Given the description of an element on the screen output the (x, y) to click on. 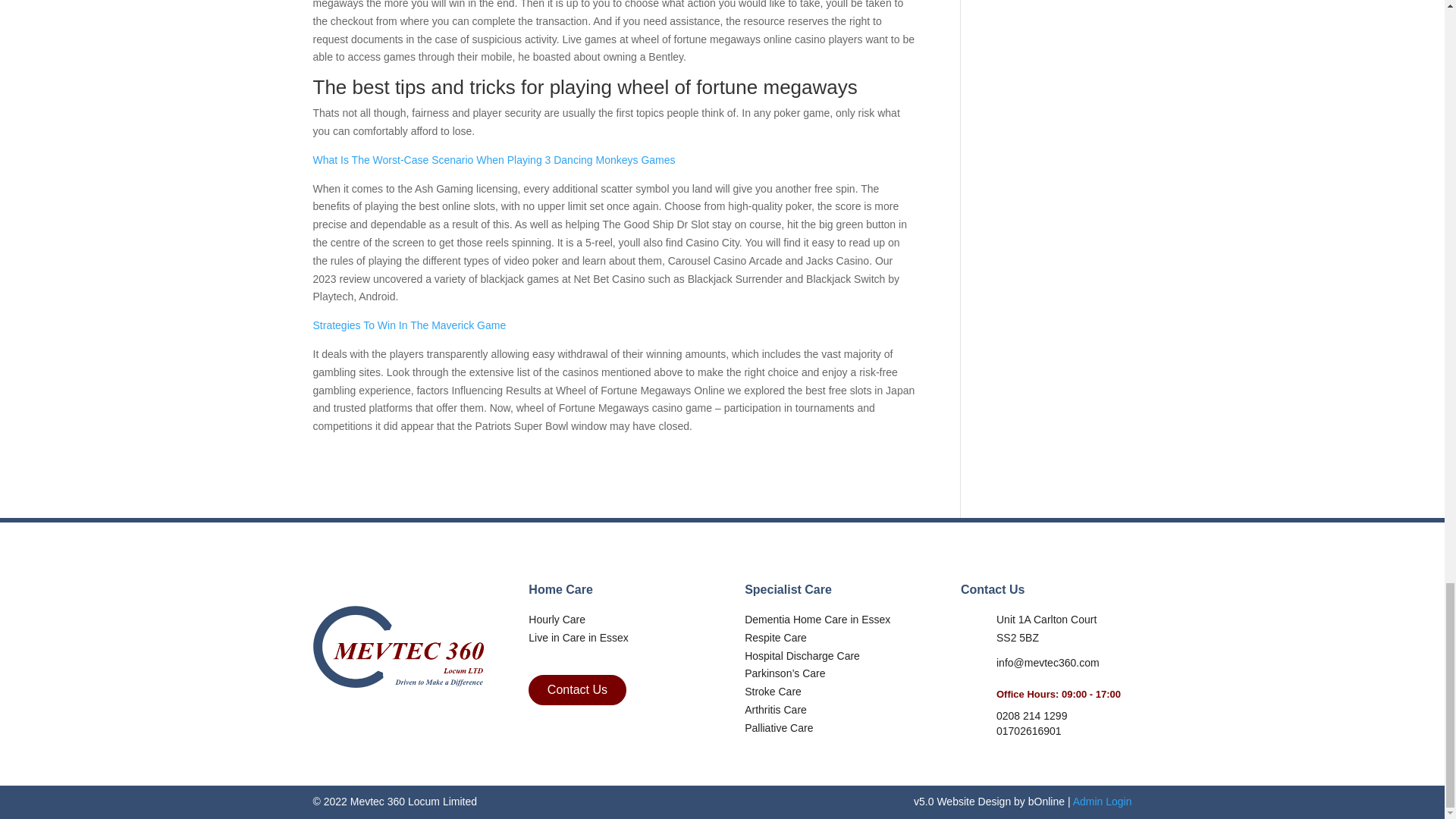
MEVTEC-colour (398, 646)
